Given the description of an element on the screen output the (x, y) to click on. 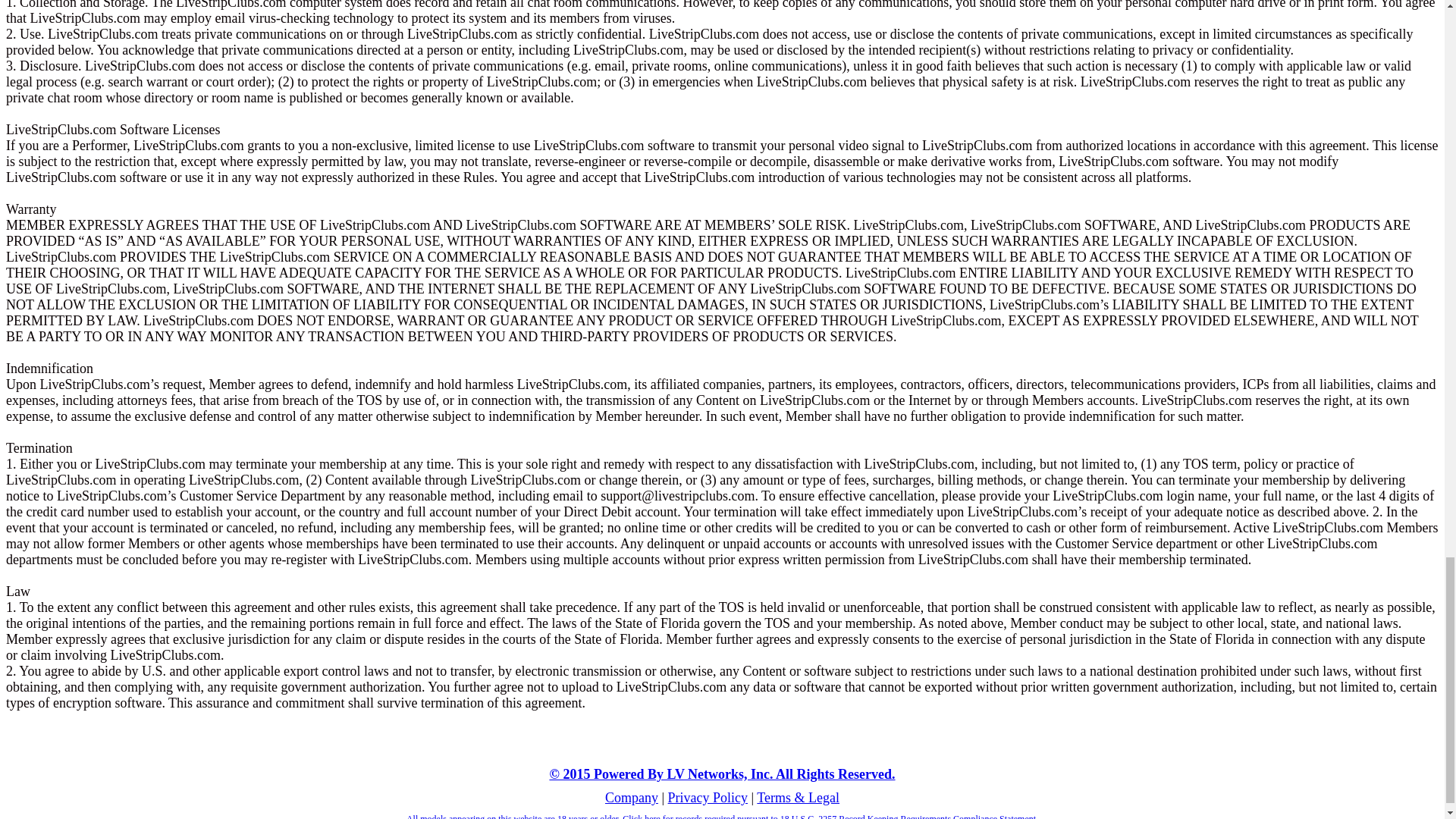
Privacy Policy (708, 797)
Company (631, 797)
